Given the description of an element on the screen output the (x, y) to click on. 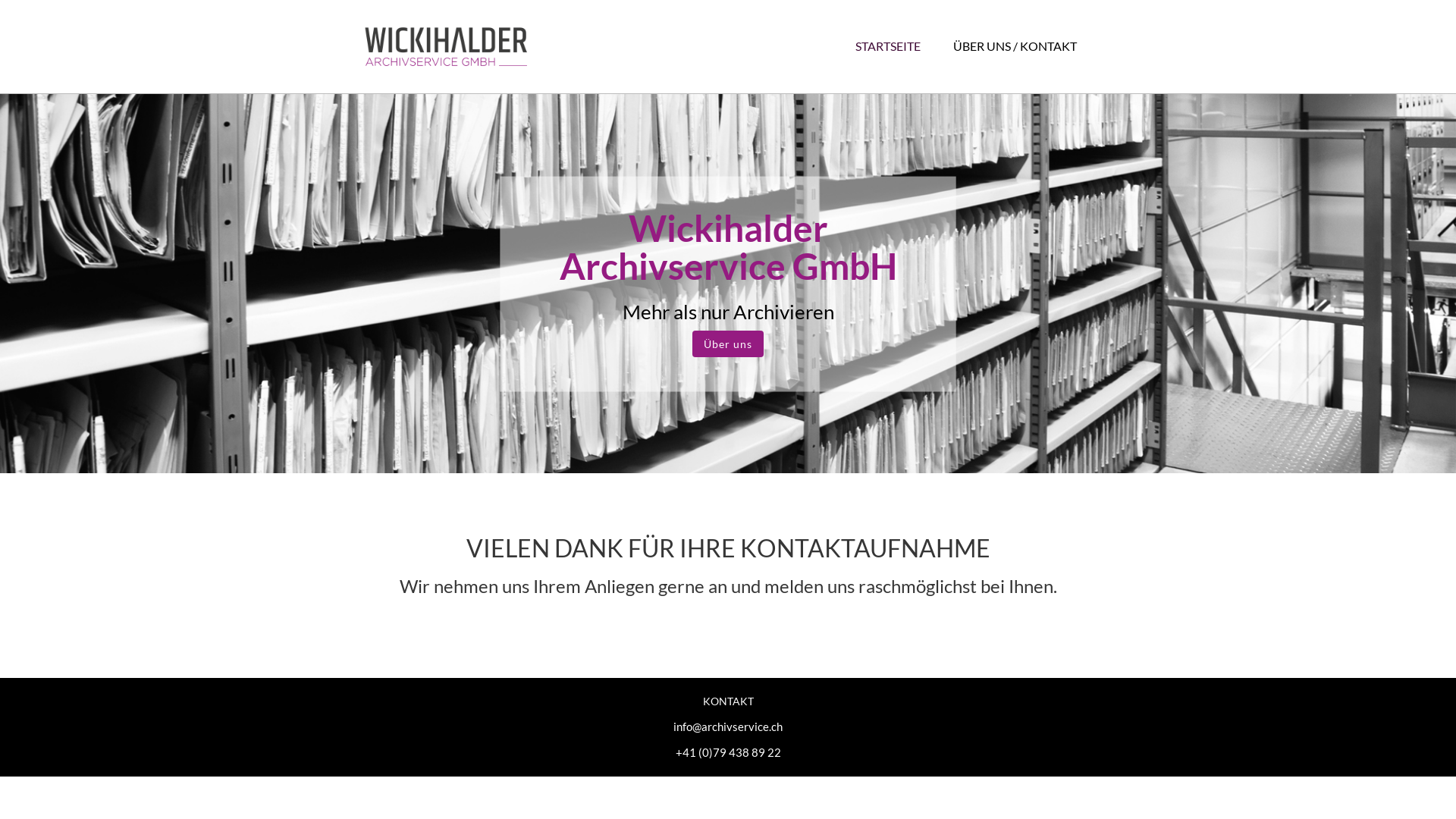
STARTSEITE Element type: text (887, 45)
info@archivservice.ch Element type: text (728, 726)
